Given the description of an element on the screen output the (x, y) to click on. 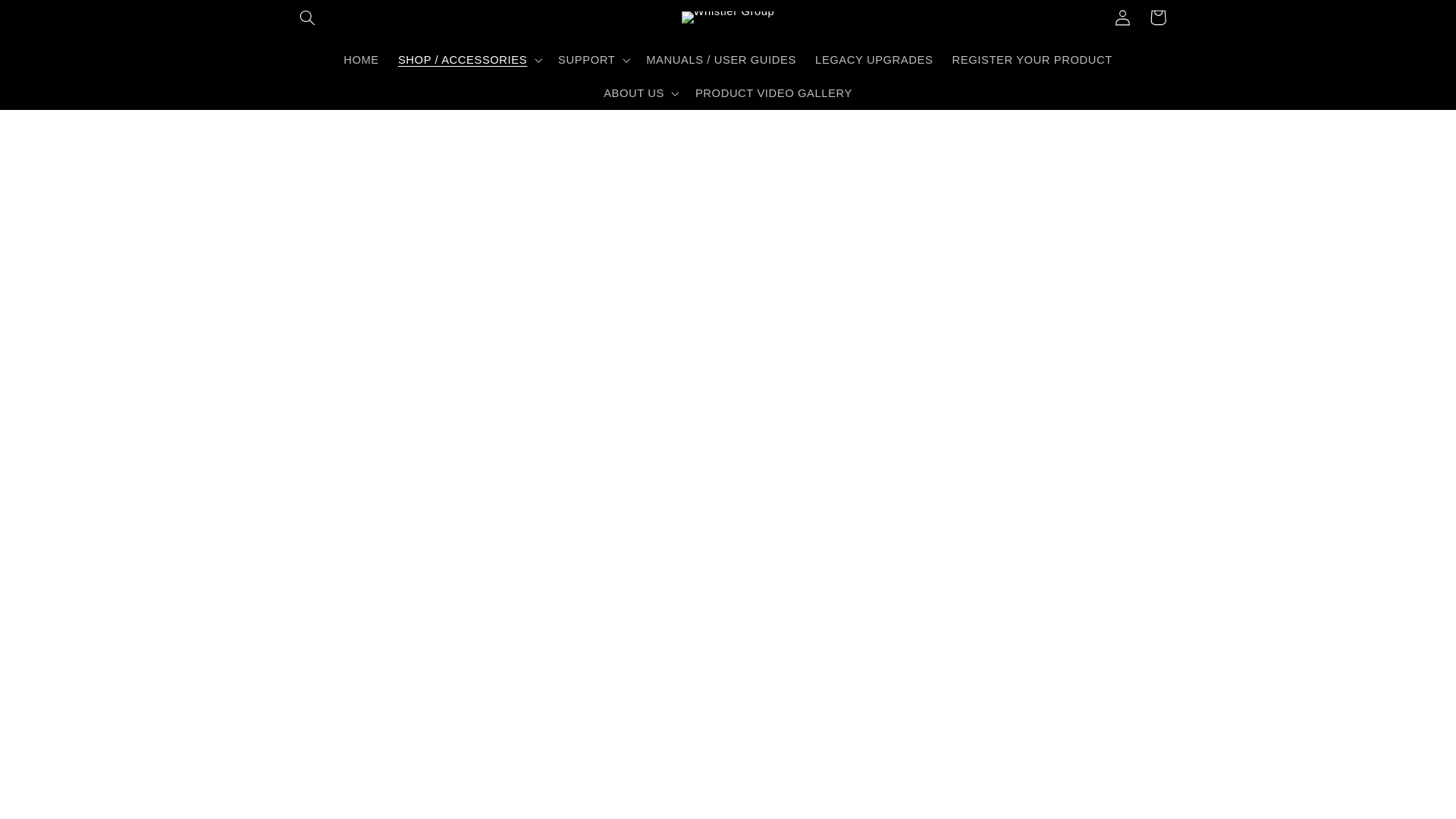
Skip to content (48, 18)
